Given the description of an element on the screen output the (x, y) to click on. 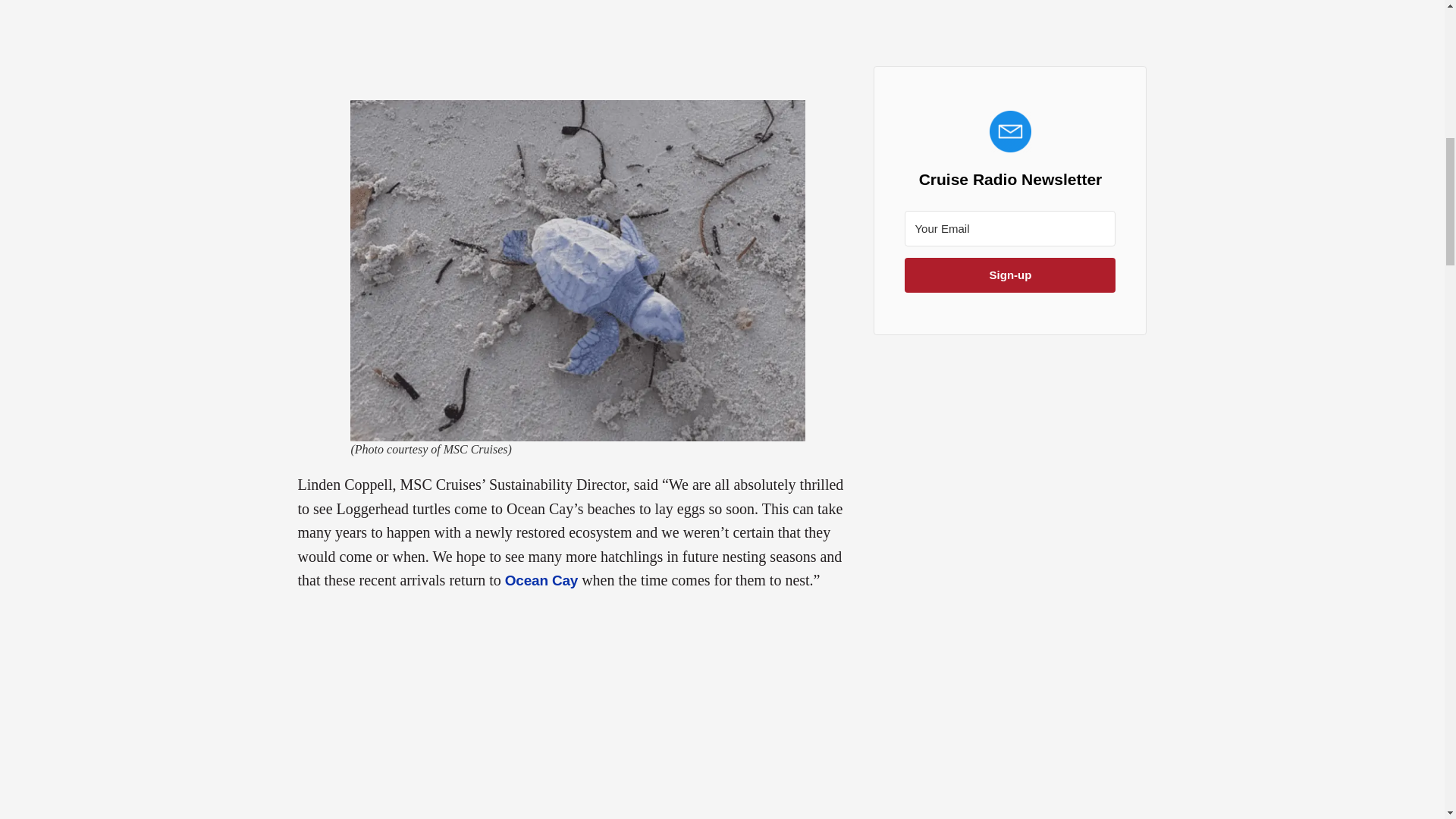
Ocean Cay (541, 580)
Sign-up (1009, 275)
Ocean Cay (541, 580)
